Given the description of an element on the screen output the (x, y) to click on. 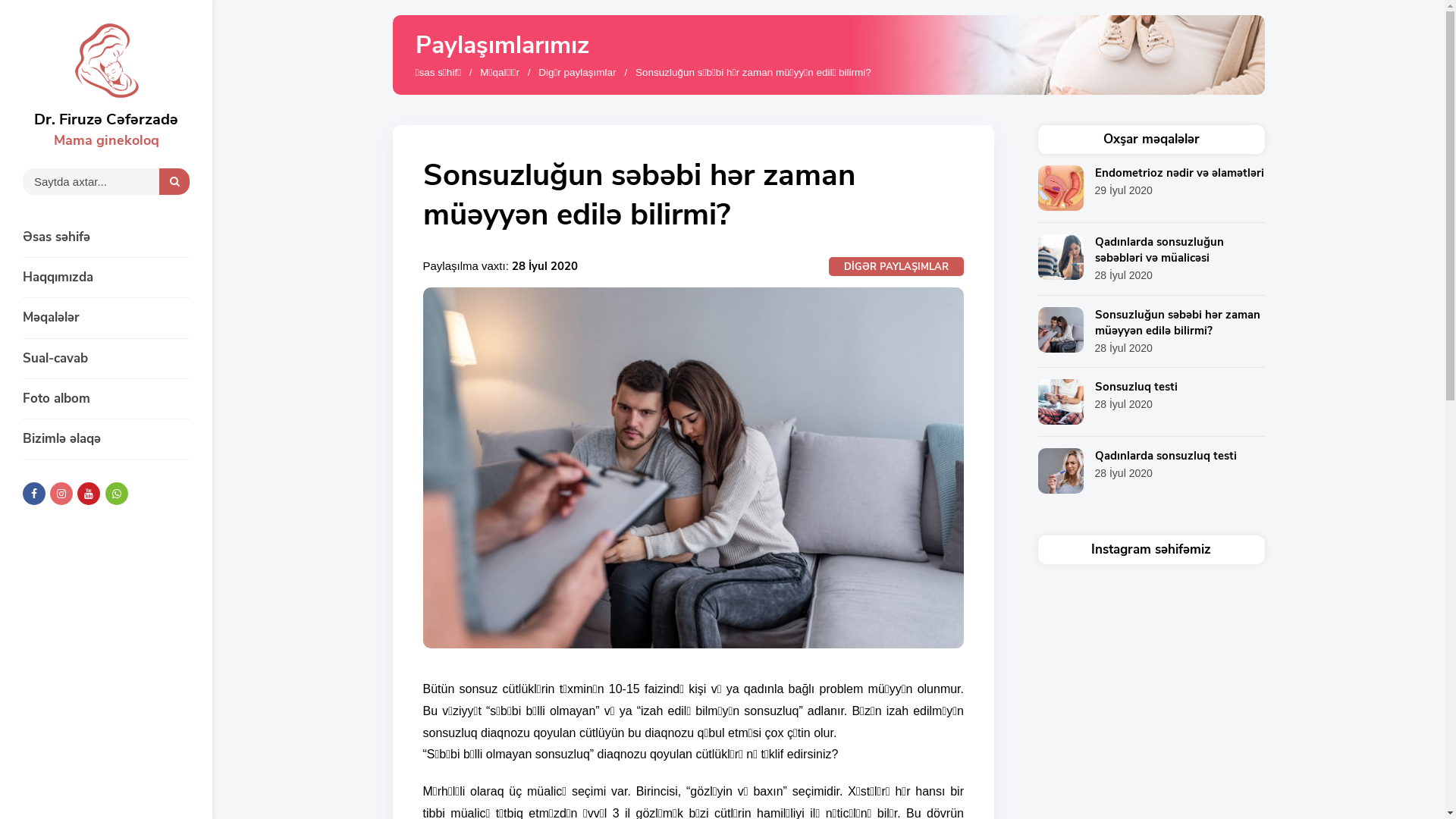
Foto albom Element type: text (105, 399)
Sual-cavab Element type: text (105, 358)
